Given the description of an element on the screen output the (x, y) to click on. 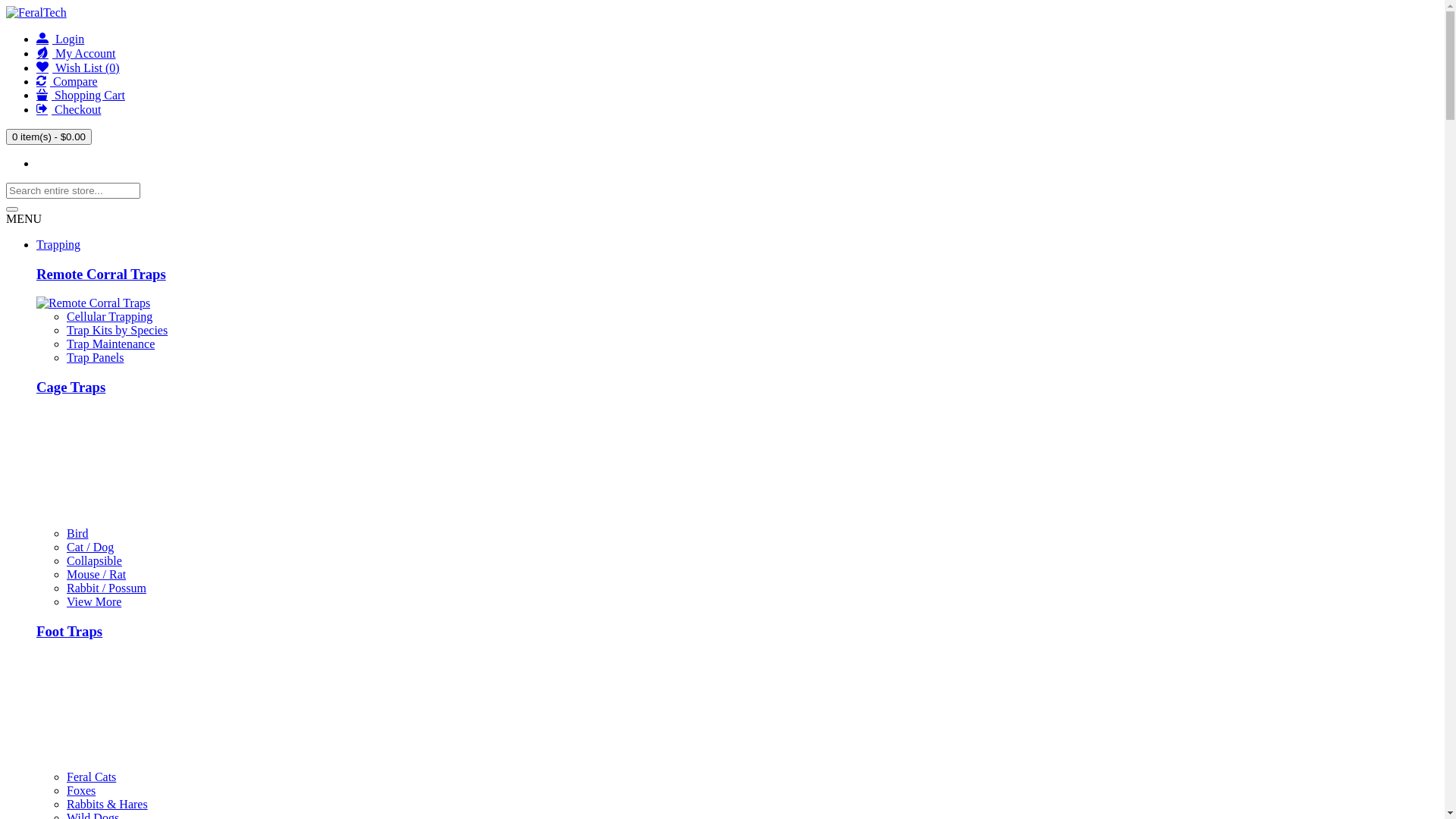
Wish List (0) Element type: text (77, 67)
Checkout Element type: text (68, 109)
Foot Traps Element type: text (69, 631)
Trap Maintenance Element type: text (110, 343)
Trapping Element type: text (58, 244)
Mouse / Rat Element type: text (95, 573)
Cellular Trapping Element type: text (109, 316)
Collapsible Element type: text (94, 560)
Cat / Dog Element type: text (89, 546)
My Account Element type: text (76, 53)
0 item(s) - $0.00 Element type: text (48, 136)
Login Element type: text (60, 38)
FeralTech Element type: hover (36, 12)
View More Element type: text (93, 601)
Trap Kits by Species Element type: text (116, 329)
Cage Traps Element type: text (70, 387)
Remote Corral Traps Element type: text (101, 274)
Rabbit / Possum Element type: text (106, 587)
Foxes Element type: text (80, 790)
Rabbits & Hares Element type: text (106, 803)
Bird Element type: text (76, 533)
Shopping Cart Element type: text (80, 94)
Feral Cats Element type: text (91, 776)
0 item(s) - $0.00 Element type: text (48, 136)
Trap Panels Element type: text (94, 357)
Compare Element type: text (66, 81)
